Given the description of an element on the screen output the (x, y) to click on. 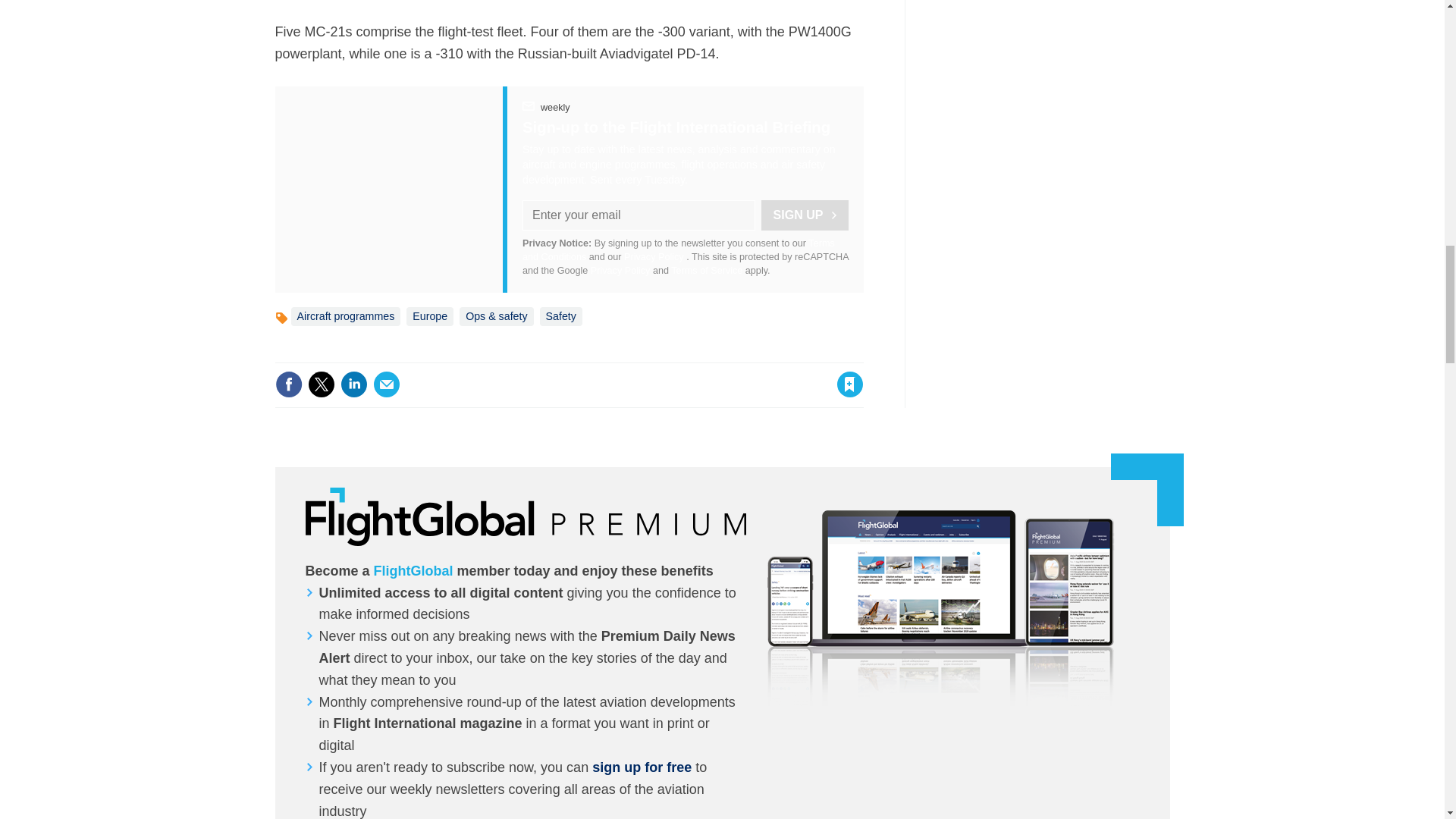
Share this on Linked in (352, 384)
Share this on Facebook (288, 384)
Email this article (386, 384)
Share this on Twitter (320, 384)
